Given the description of an element on the screen output the (x, y) to click on. 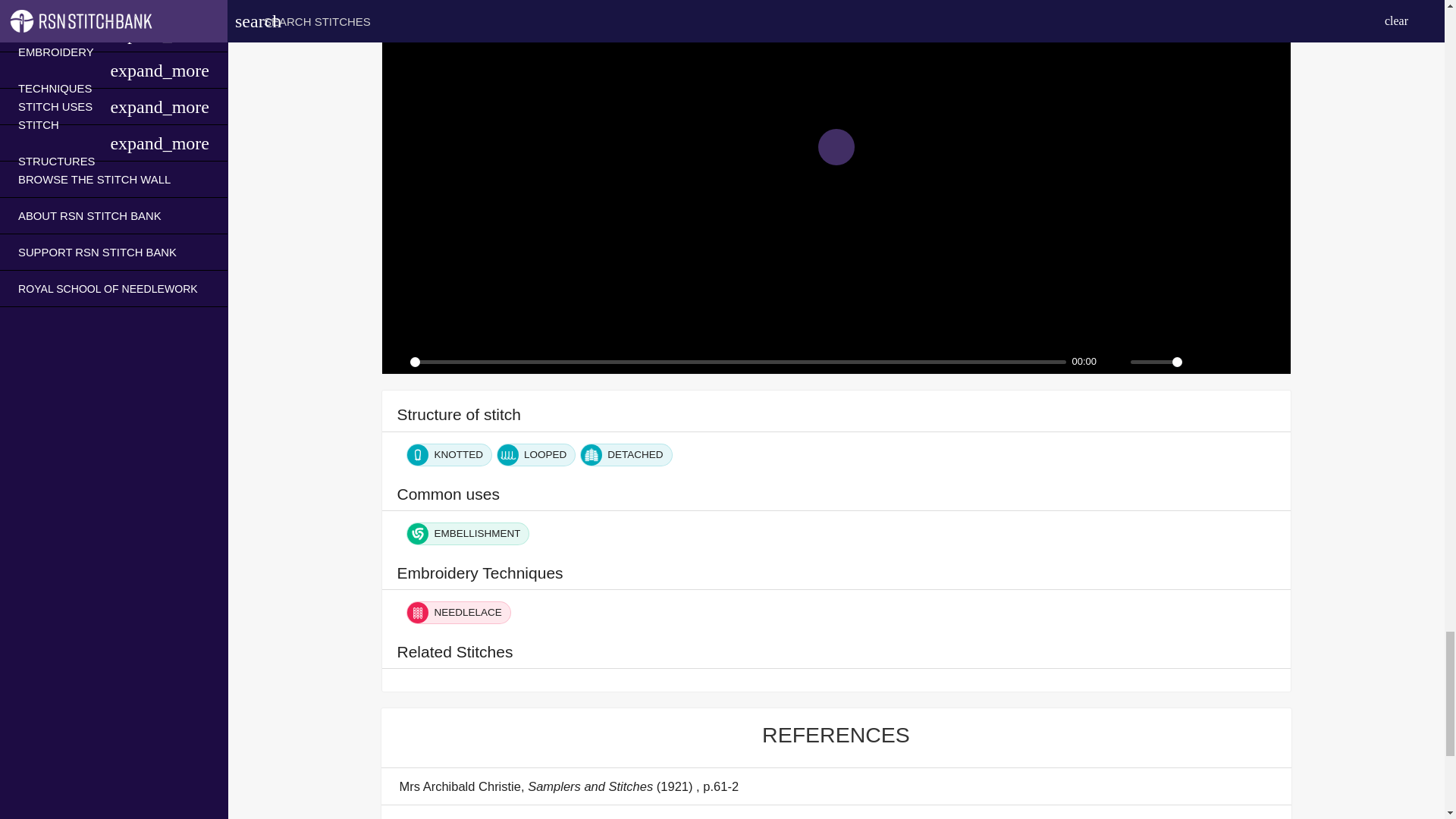
EMBELLISHMENT (467, 533)
Disable captions (1199, 361)
PIP (1251, 361)
KNOTTED (449, 454)
DETACHED (625, 454)
LOOPED (535, 454)
NEEDLELACE (458, 612)
Play (393, 361)
Settings (1224, 361)
Enter fullscreen (1278, 361)
0 (737, 361)
Play (834, 146)
1 (1154, 361)
Unmute (1114, 361)
